Given the description of an element on the screen output the (x, y) to click on. 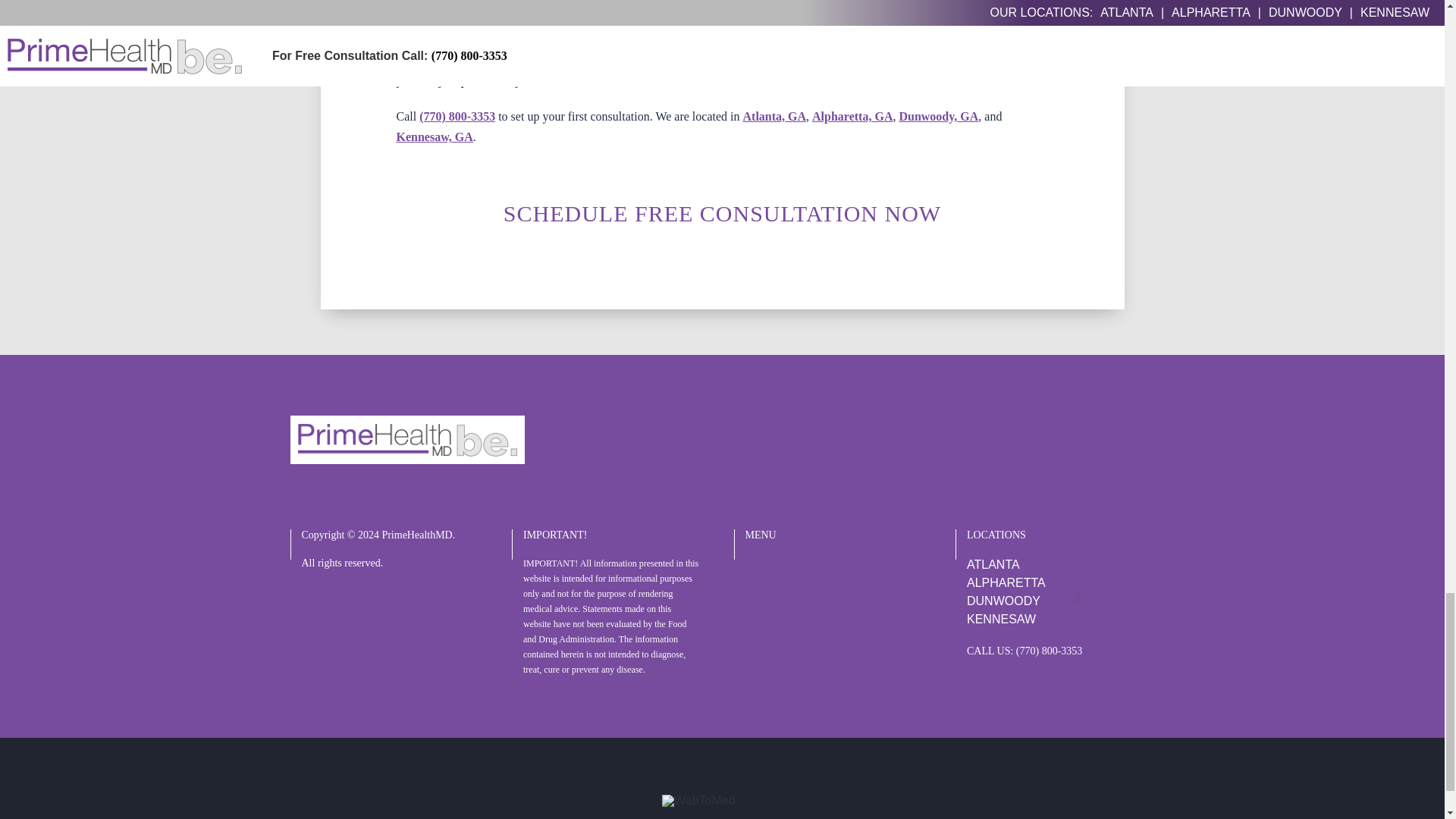
Alpharetta, GA (852, 115)
DUNWOODY (1003, 600)
Atlanta, GA (774, 115)
Dunwoody, GA (938, 115)
ATLANTA (993, 563)
Kennesaw, GA (433, 136)
ALPHARETTA (1005, 582)
KENNESAW (1000, 618)
